Given the description of an element on the screen output the (x, y) to click on. 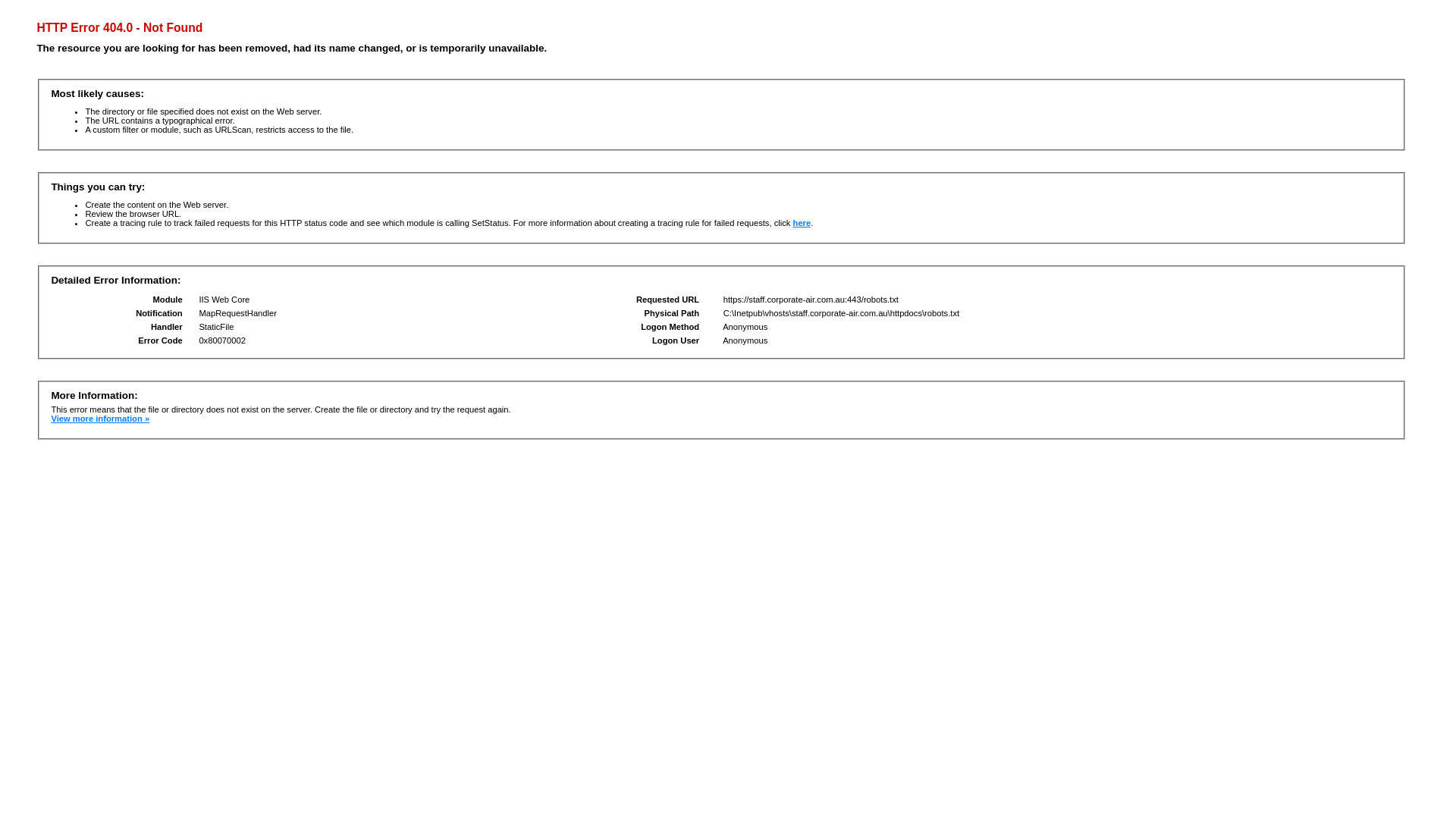
here Element type: text (802, 222)
